Given the description of an element on the screen output the (x, y) to click on. 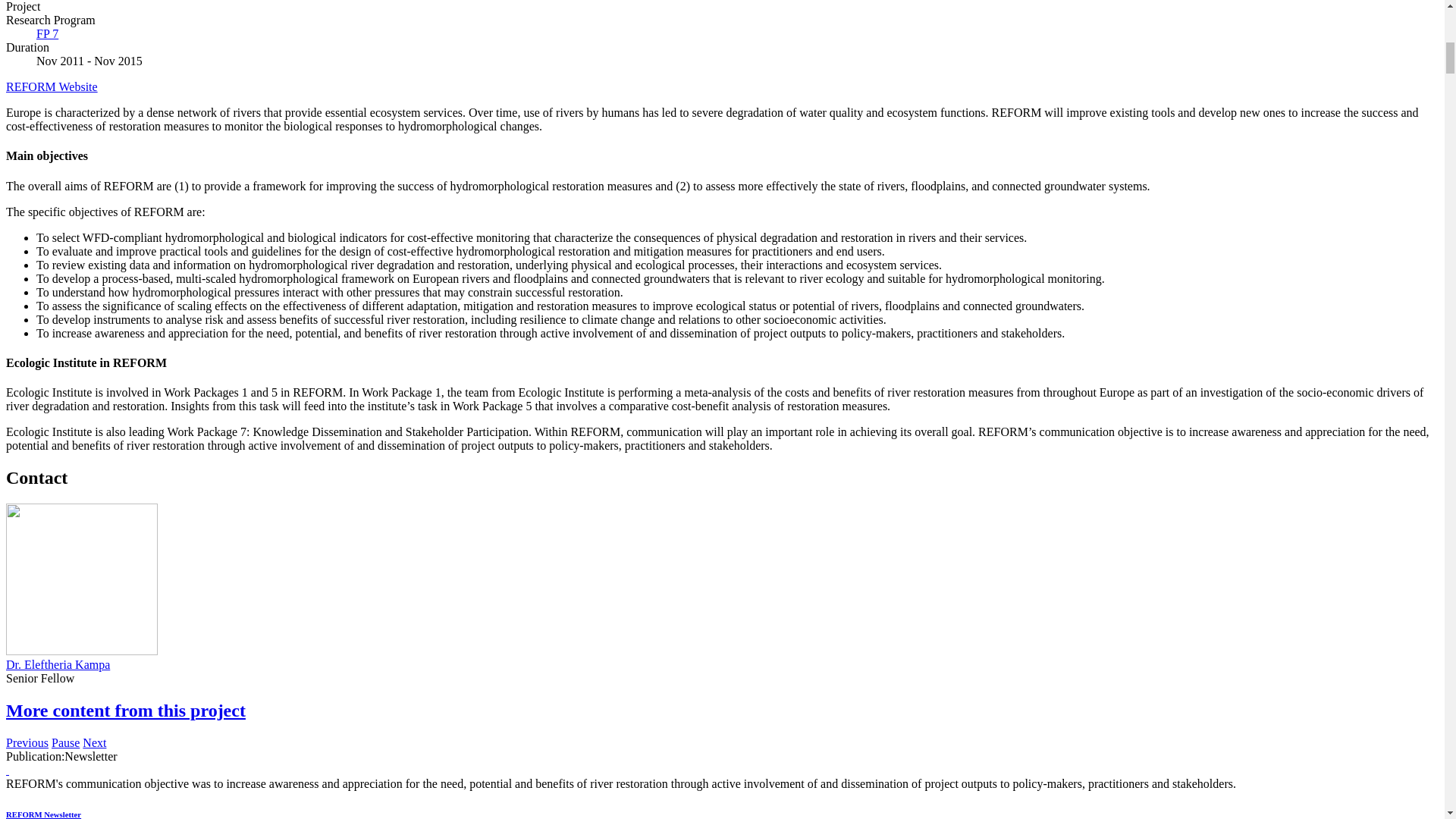
More content from this project (125, 710)
Dr. Eleftheria Kampa (57, 664)
REFORM Website (51, 86)
FP 7 (47, 33)
